Given the description of an element on the screen output the (x, y) to click on. 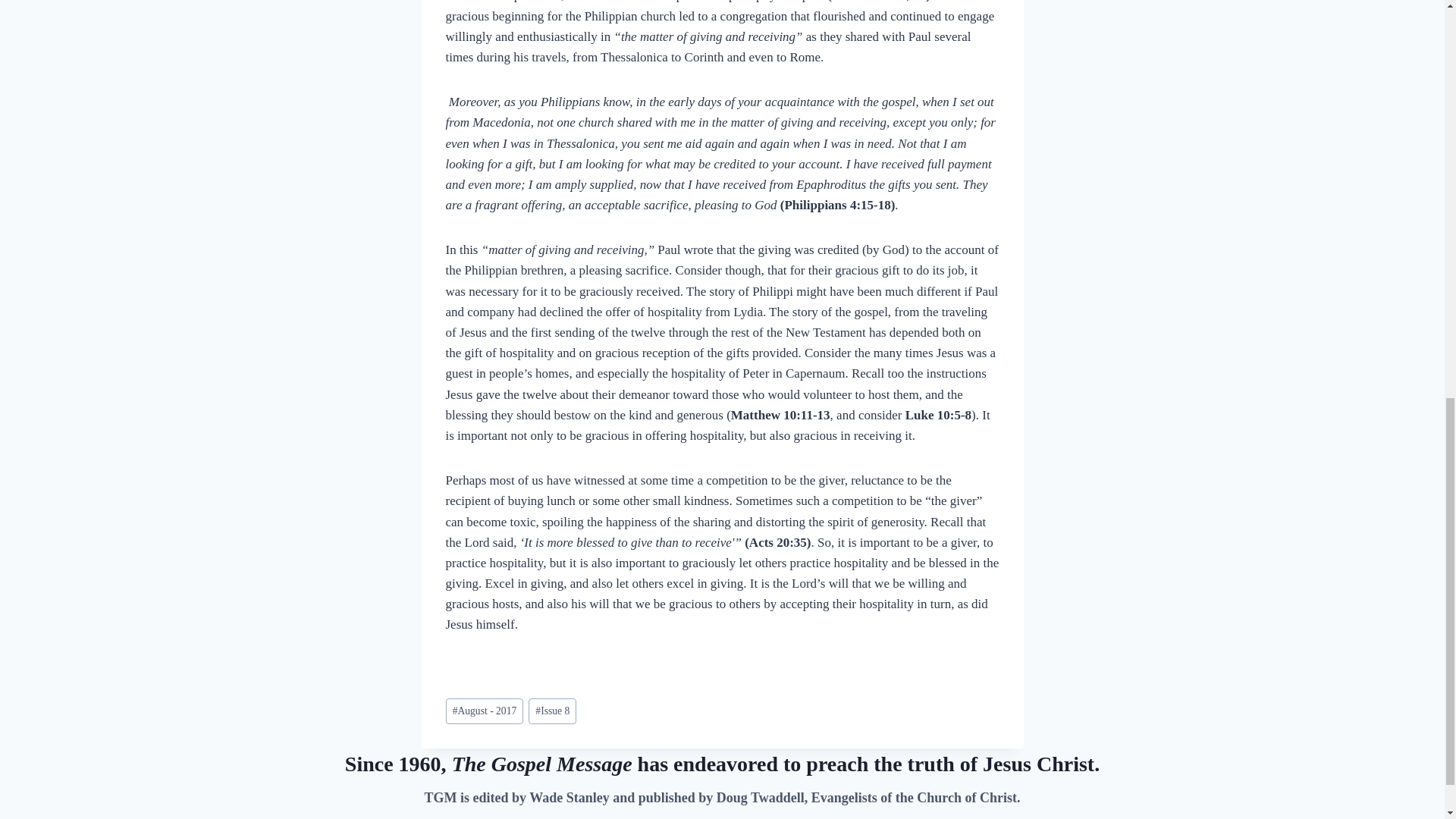
August - 2017 (484, 711)
Issue 8 (552, 711)
